Given the description of an element on the screen output the (x, y) to click on. 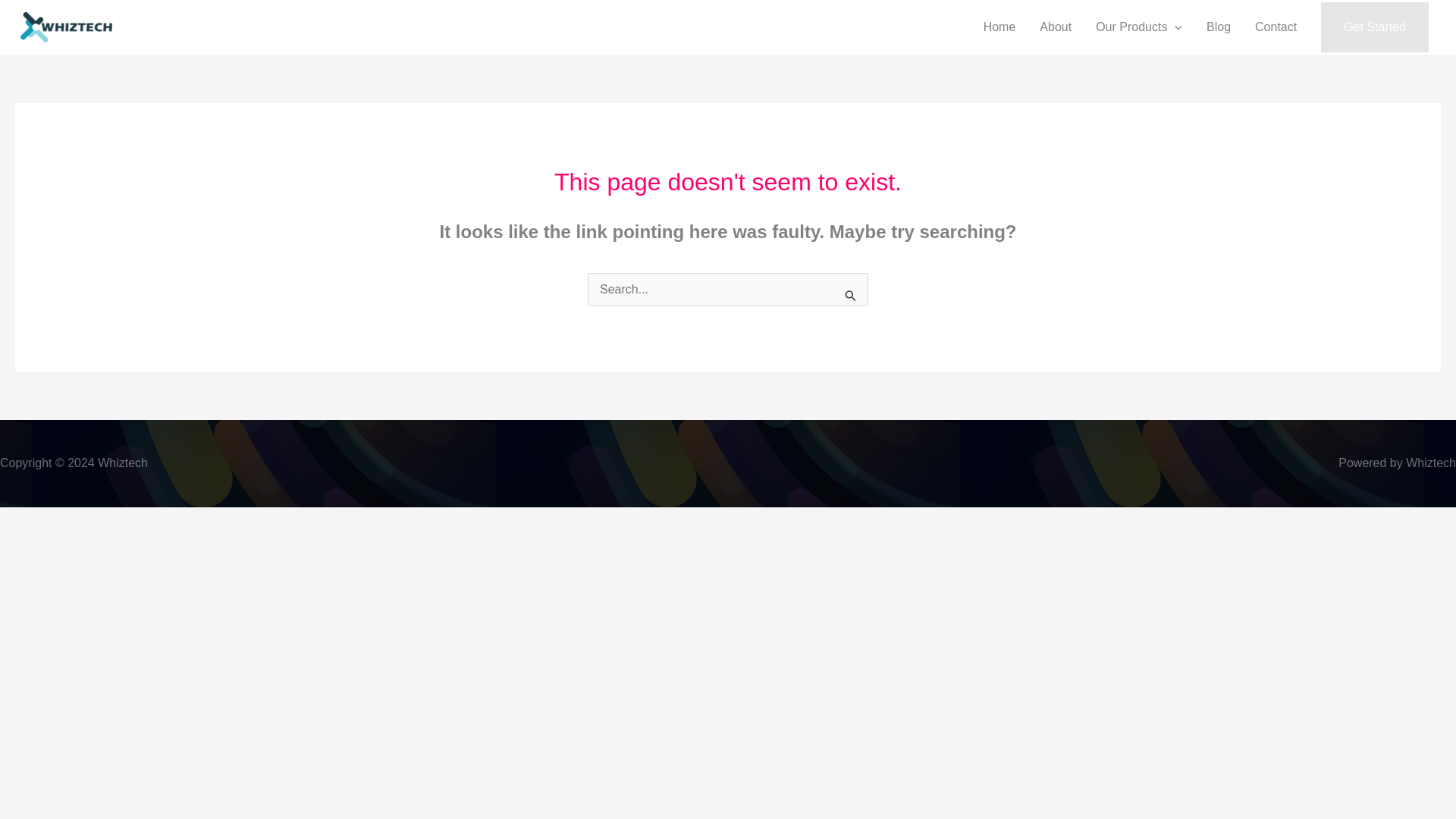
About (1055, 27)
Home (999, 27)
Our Products (1138, 27)
Blog (1218, 27)
Get Started (1374, 27)
Contact (1275, 27)
